Given the description of an element on the screen output the (x, y) to click on. 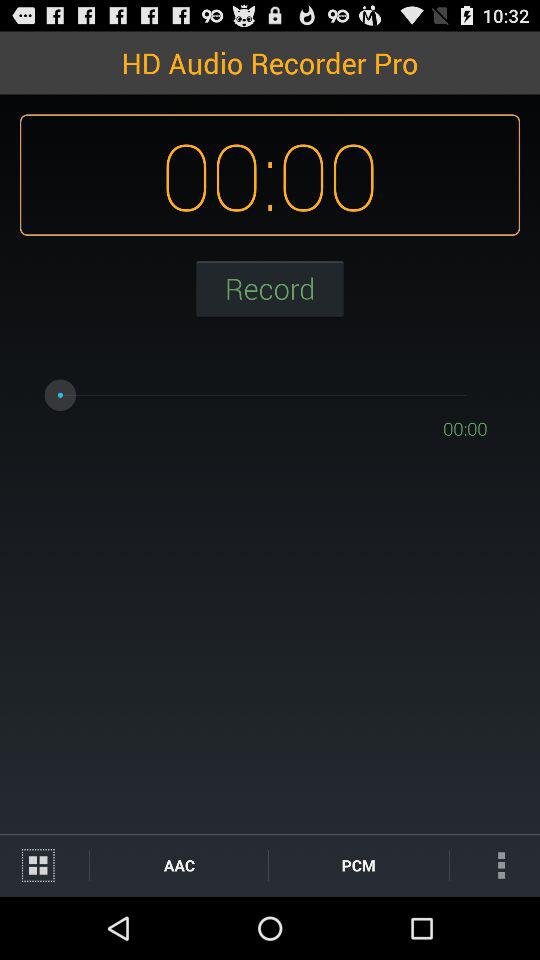
turn on aac (178, 864)
